Given the description of an element on the screen output the (x, y) to click on. 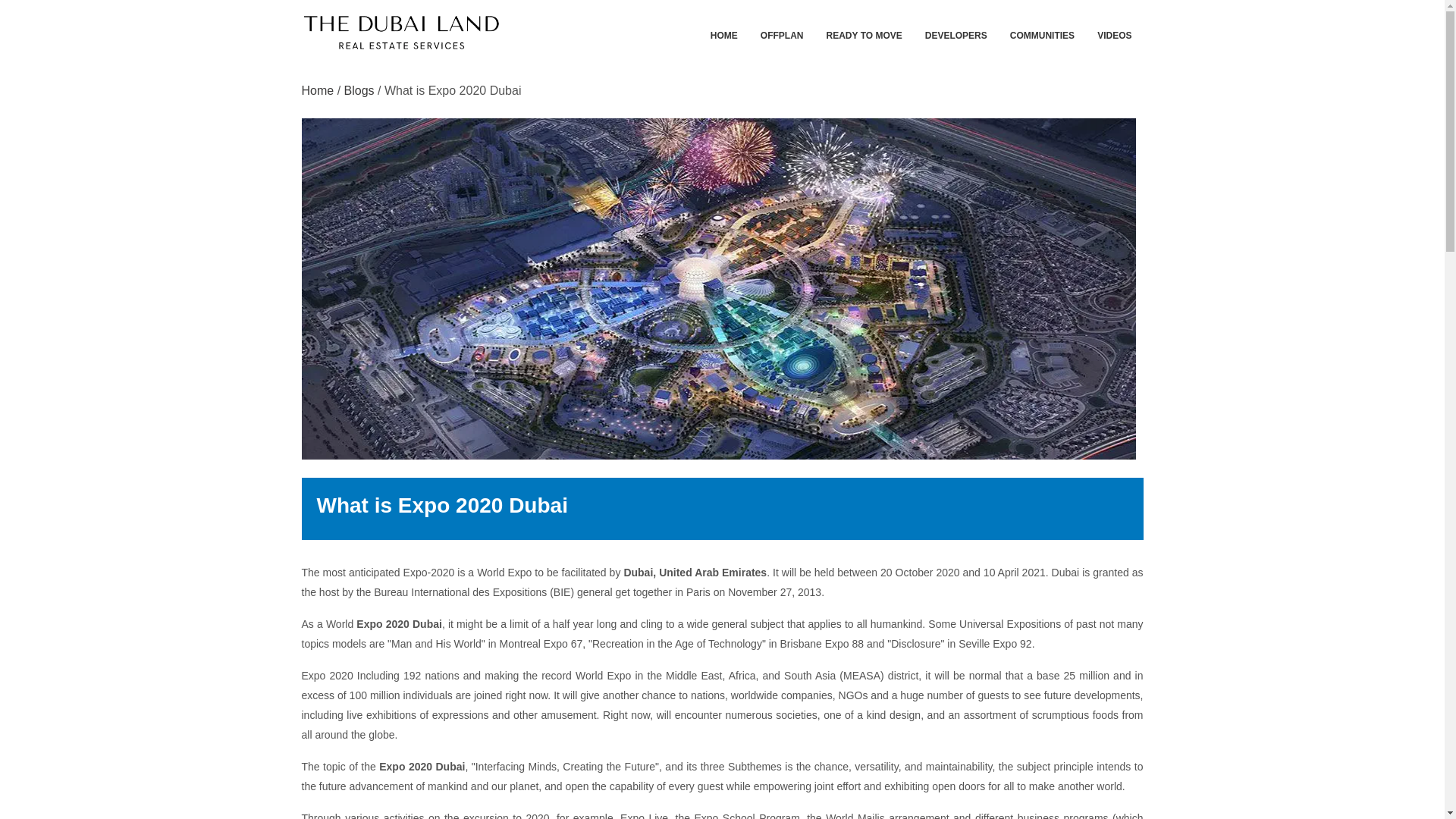
DEVELOPERS (956, 33)
Home (317, 90)
VIDEOS (1114, 33)
OFFPLAN (782, 33)
HOME (723, 33)
Blogs (358, 90)
READY TO MOVE (864, 33)
COMMUNITIES (1042, 33)
